Given the description of an element on the screen output the (x, y) to click on. 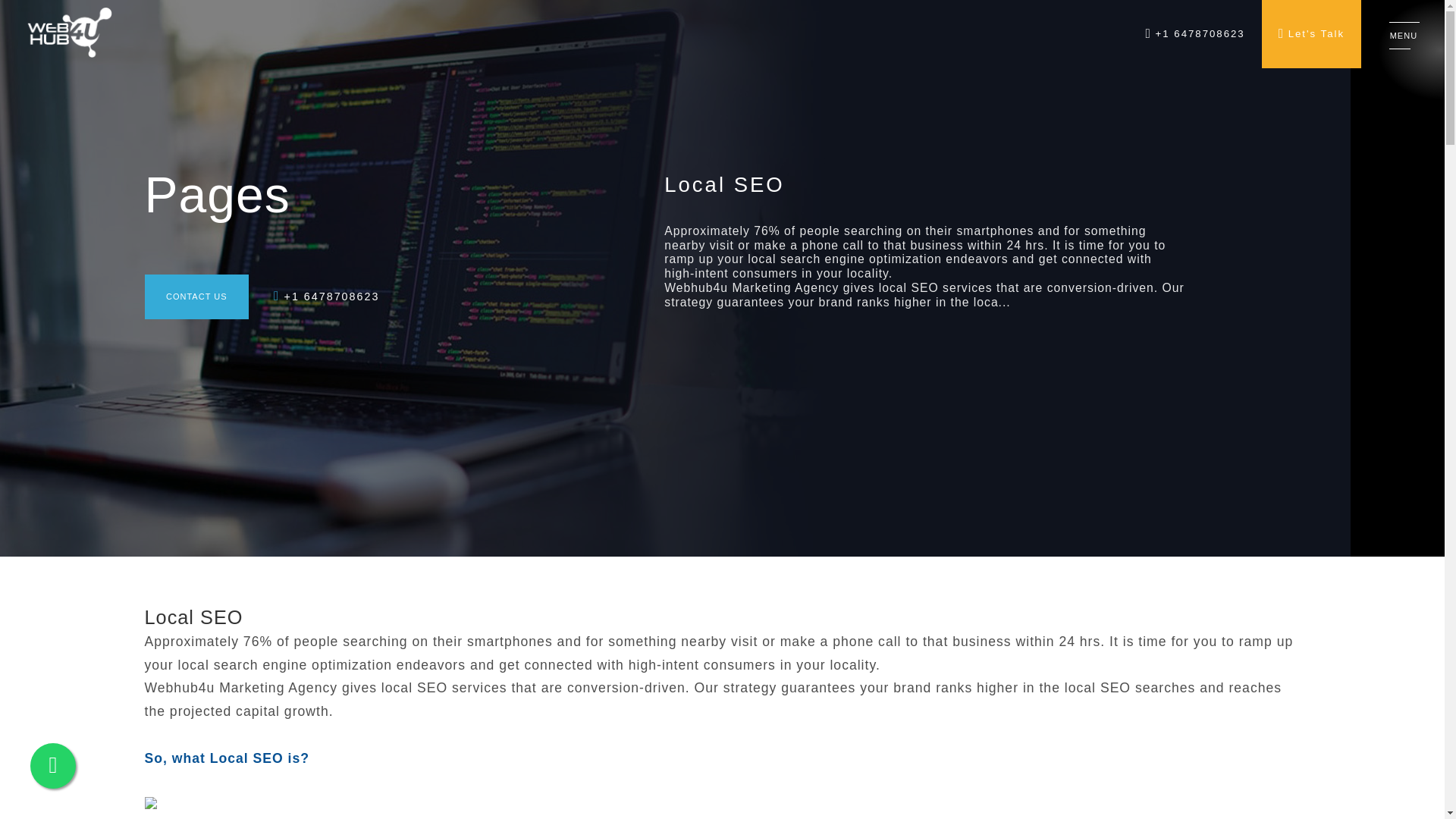
Let's Talk (1311, 33)
click to open whatsapp chat (52, 765)
MENU (1404, 37)
CONTACT US (196, 296)
